Given the description of an element on the screen output the (x, y) to click on. 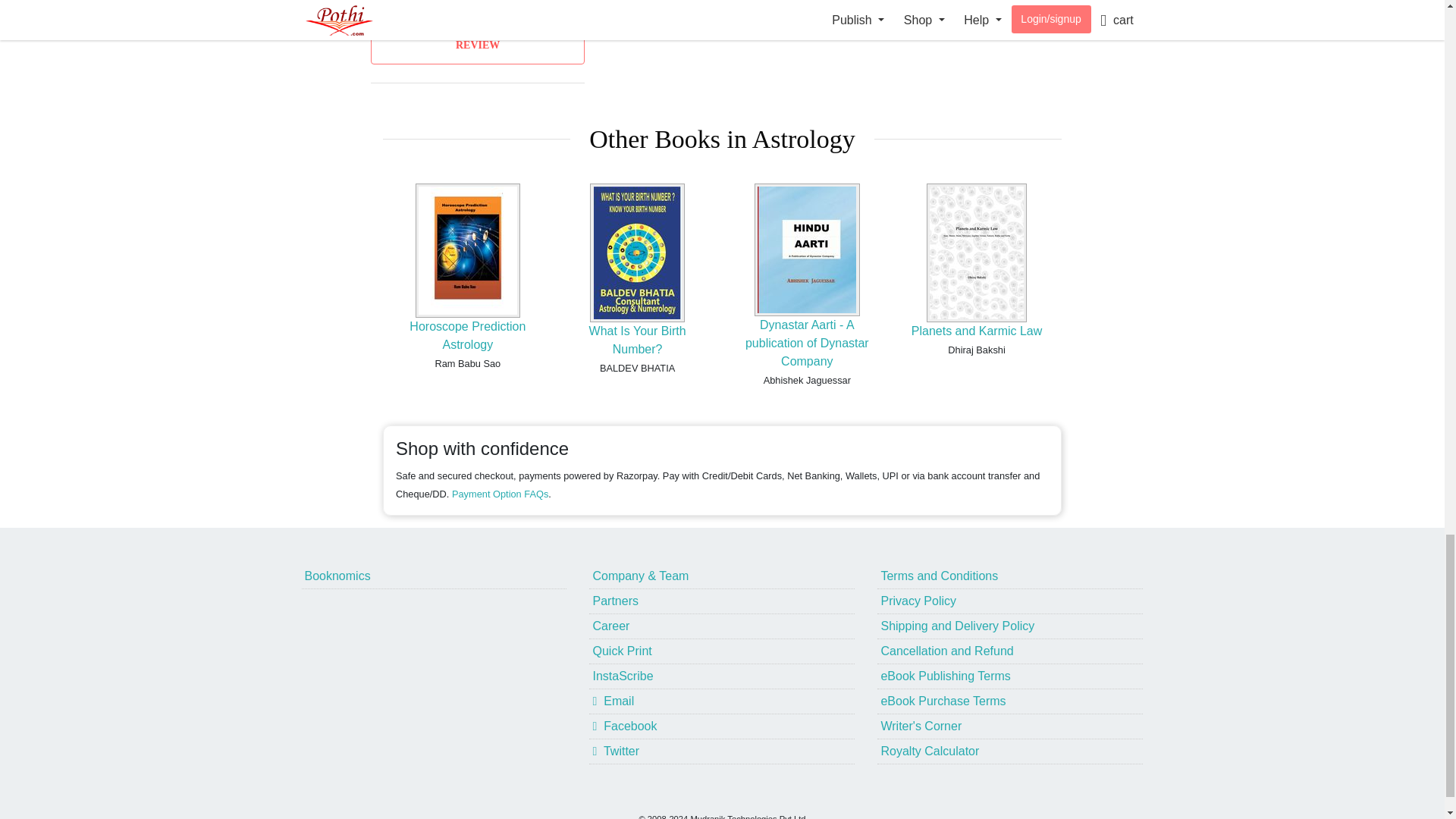
Horoscope Prediction Astrology (467, 335)
WRITE A REVIEW (478, 35)
Horoscope Prediction Astrology (467, 335)
What Is Your Birth Number? (637, 339)
Dynastar Aarti - A publication of Dynastar Company (807, 342)
Planets and Karmic Law (976, 330)
